Given the description of an element on the screen output the (x, y) to click on. 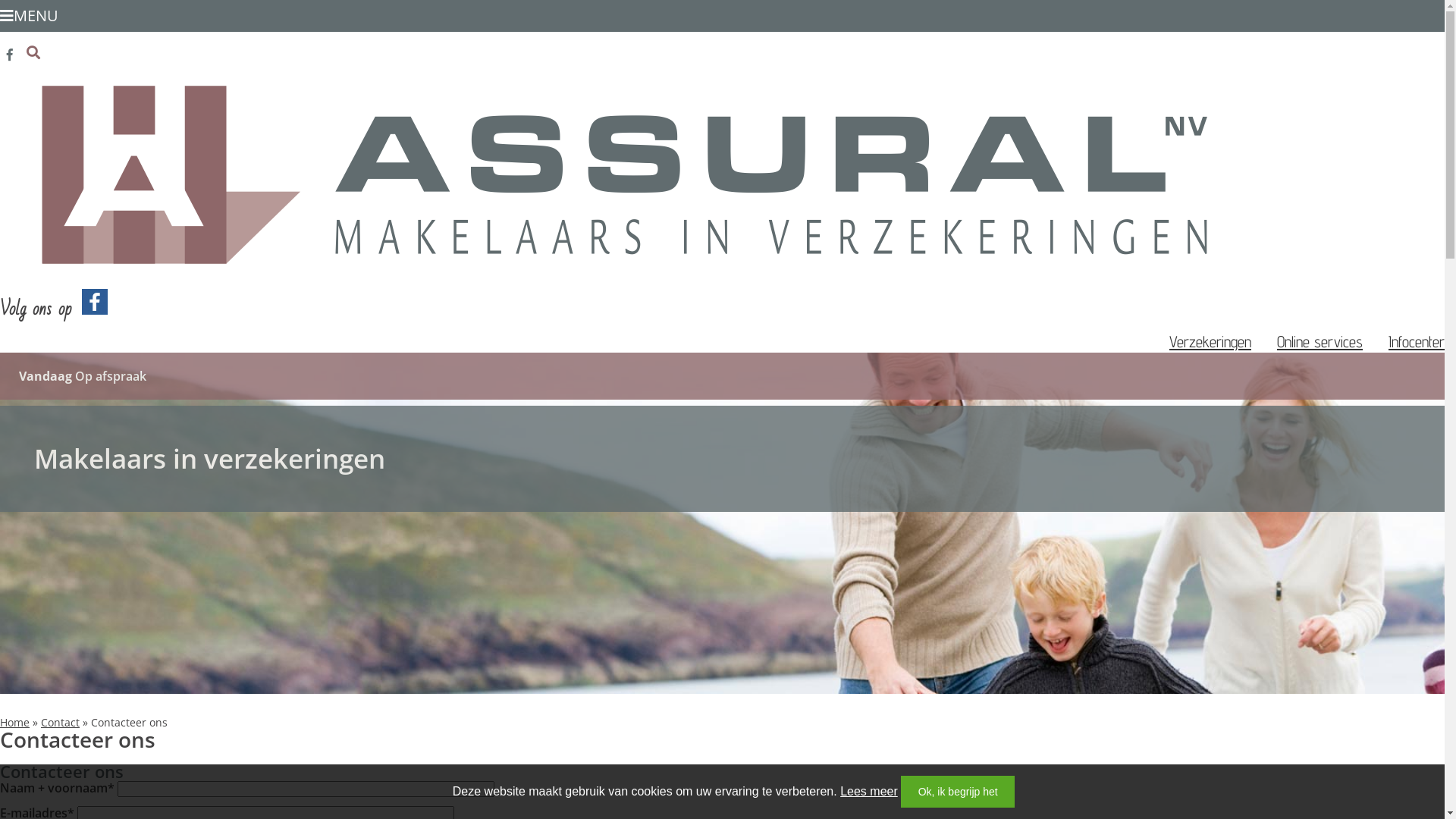
CONTACT Element type: text (1413, 64)
Contact Element type: text (59, 722)
Verzekeringen Element type: text (1210, 341)
Ok, ik begrijp het Element type: text (957, 791)
Lees meer Element type: text (868, 790)
Overslaan en naar de inhoud gaan Element type: text (0, 0)
HOME Element type: text (1289, 64)
info@assural.be Element type: text (357, 52)
Home Element type: text (14, 722)
OVER ONS Element type: text (1346, 64)
Online services Element type: text (1319, 341)
Infocenter Element type: text (1416, 341)
